Given the description of an element on the screen output the (x, y) to click on. 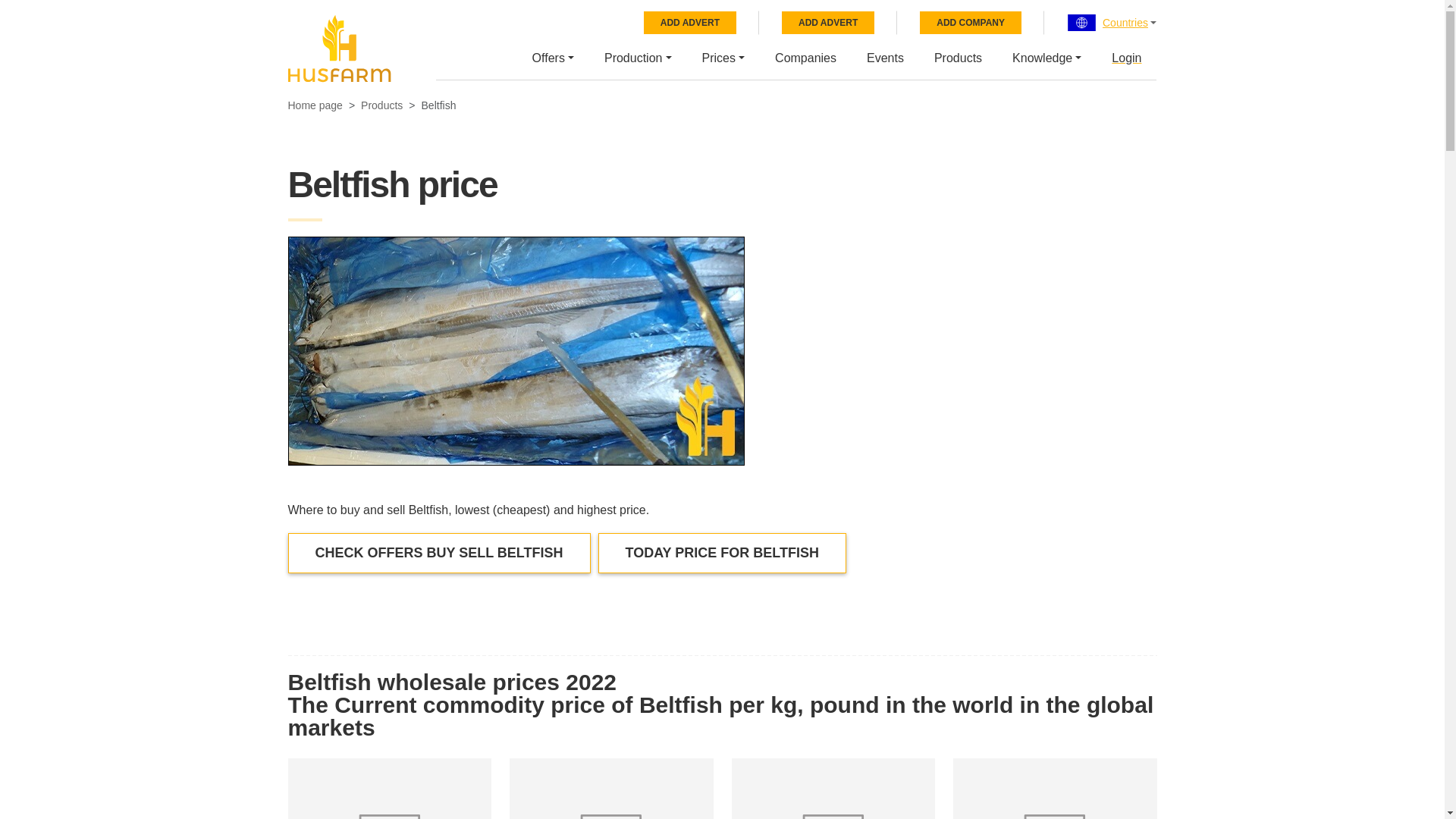
ADD ADVERT (828, 22)
Products (957, 56)
Countries (1125, 23)
Knowledge (1046, 56)
Offers (552, 56)
Companies (804, 56)
Login (1126, 56)
Production (637, 56)
ADD ADVERT (689, 22)
Prices (723, 56)
